Given the description of an element on the screen output the (x, y) to click on. 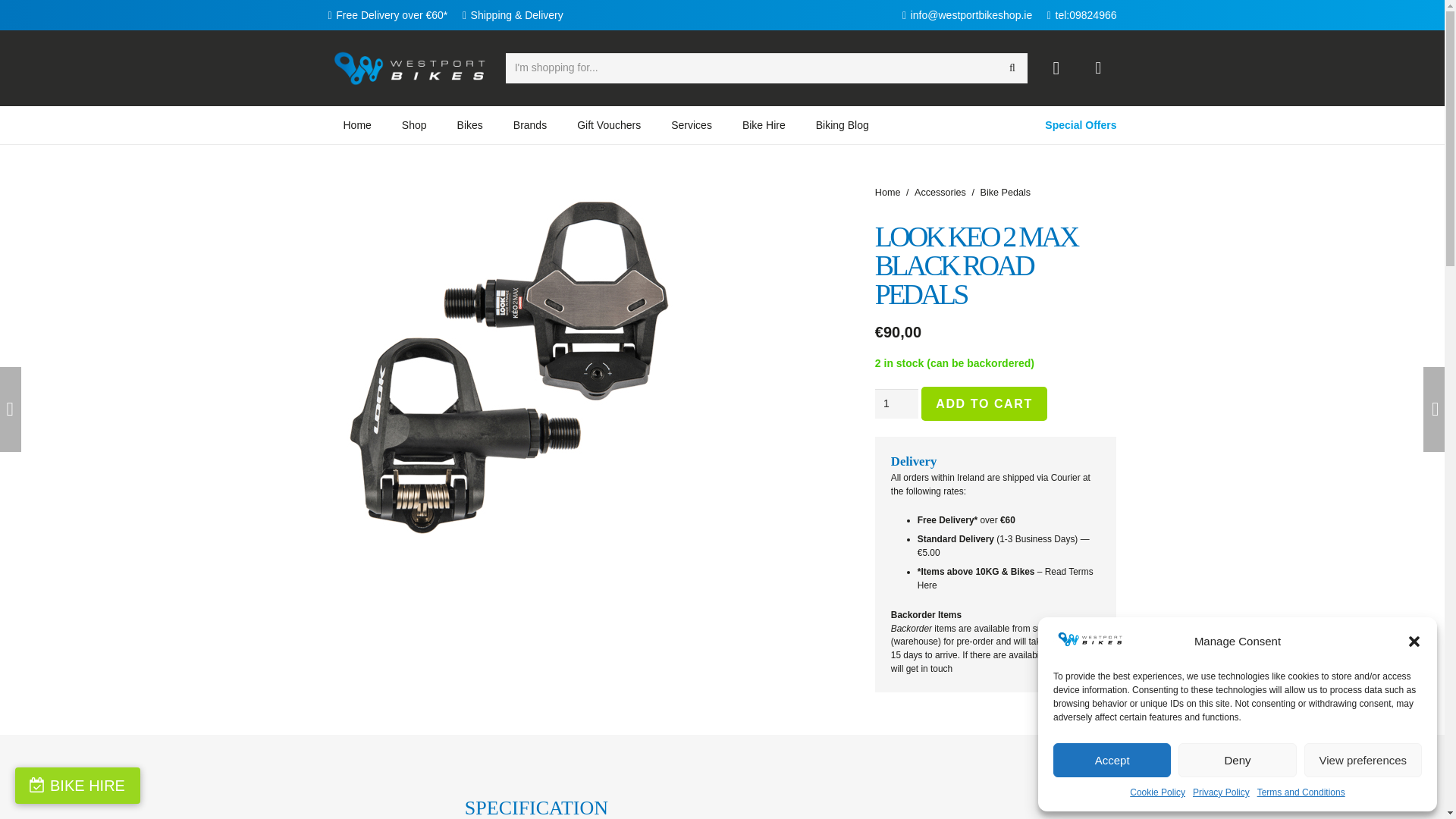
1 (896, 403)
Deny (1236, 759)
Home (356, 125)
Accept (1111, 759)
View preferences (1363, 759)
tel:09824966 (1081, 15)
0 (1098, 67)
Shop (414, 125)
Look keo 2 max carbon pedals with keo grip cleat (505, 364)
Bikes (469, 125)
Terms and Conditions (1301, 792)
Cookie Policy (1157, 792)
Privacy Policy (1220, 792)
